Given the description of an element on the screen output the (x, y) to click on. 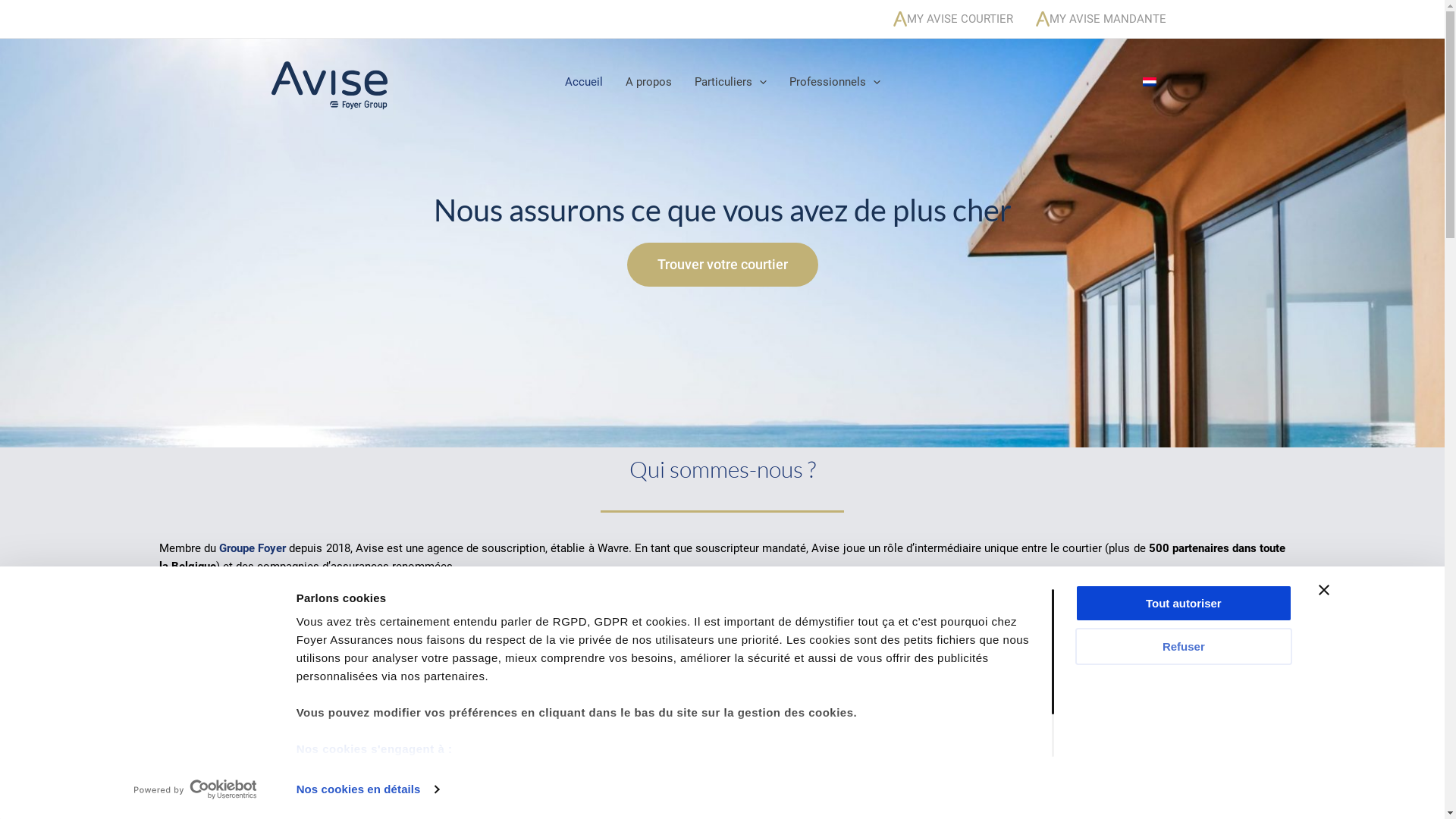
Trouver votre courtier Element type: text (721, 264)
Particuliers Element type: text (729, 81)
Groupe Foyer Element type: text (252, 548)
Professionnels Element type: text (834, 81)
MY AVISE COURTIER Element type: text (952, 18)
MY AVISE MANDANTE Element type: text (1099, 18)
Refuser Element type: text (1183, 646)
Accueil Element type: text (583, 81)
Tout autoriser Element type: text (1183, 602)
A propos Element type: text (648, 81)
